Given the description of an element on the screen output the (x, y) to click on. 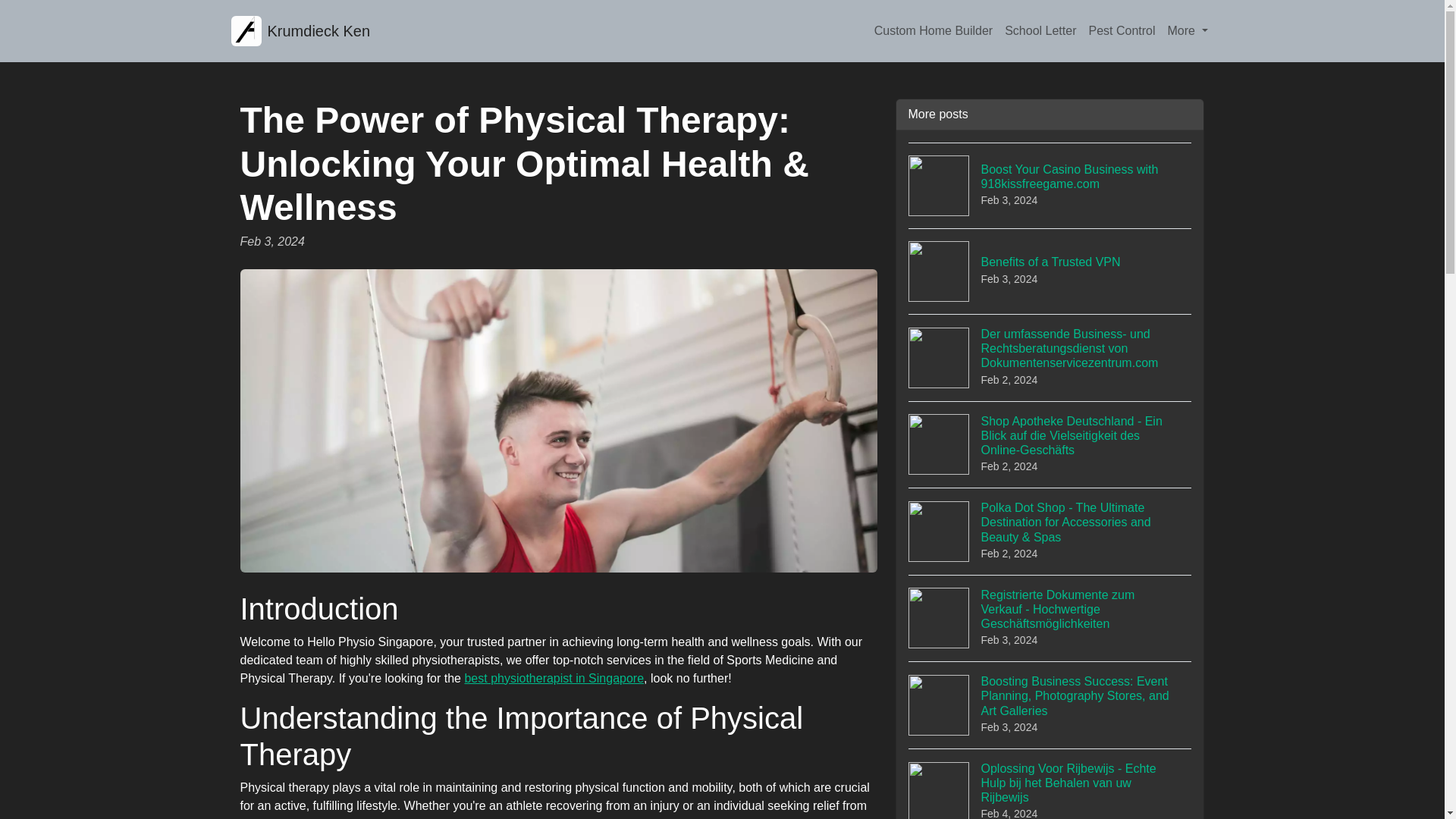
School Letter (1050, 270)
Krumdieck Ken (1039, 30)
best physiotherapist in Singapore (299, 30)
Pest Control (553, 677)
More (1120, 30)
Custom Home Builder (1187, 30)
